Given the description of an element on the screen output the (x, y) to click on. 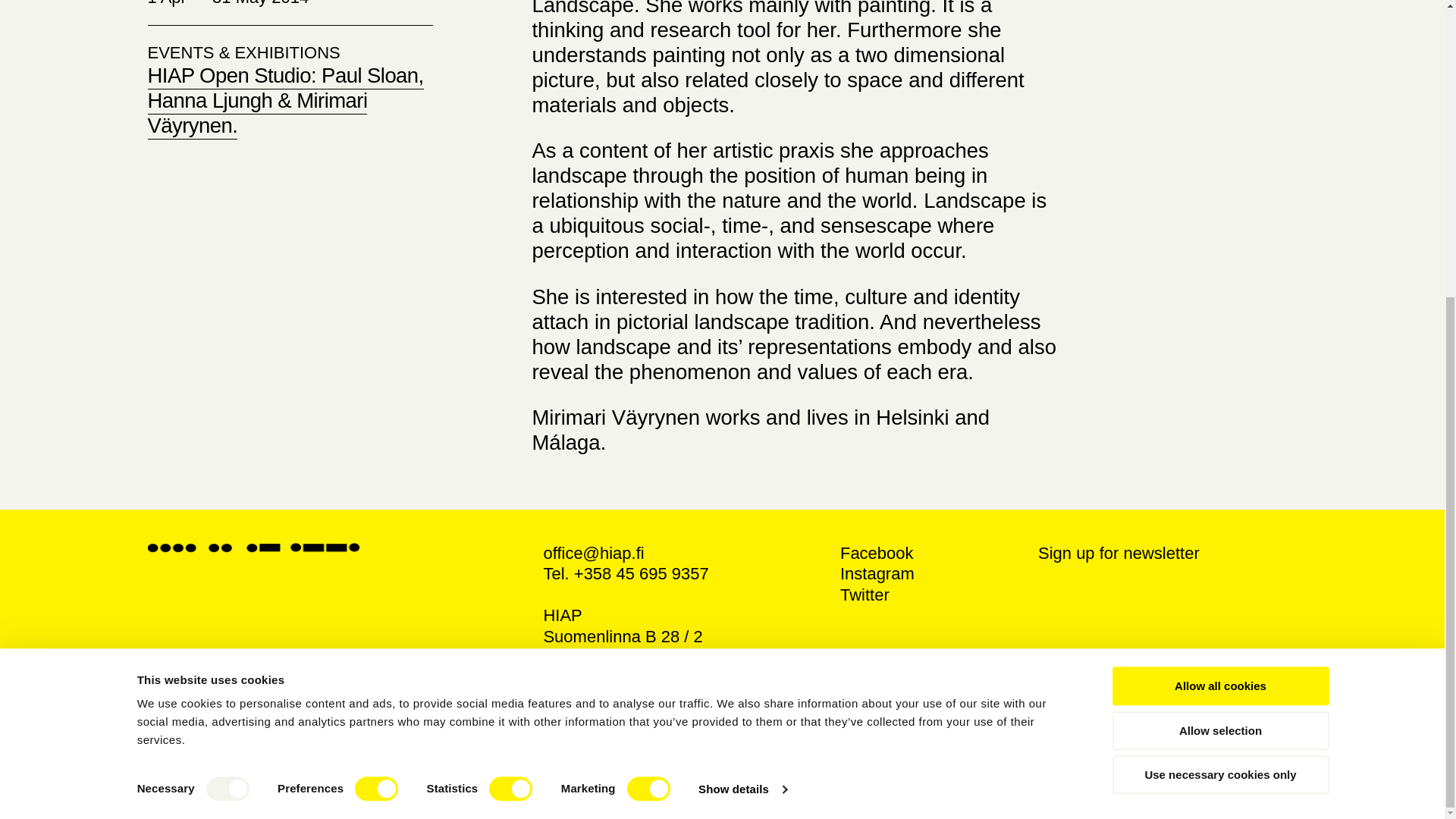
Show details (742, 330)
Use necessary cookies only (1219, 315)
Allow selection (1219, 271)
Allow all cookies (1219, 227)
